Given the description of an element on the screen output the (x, y) to click on. 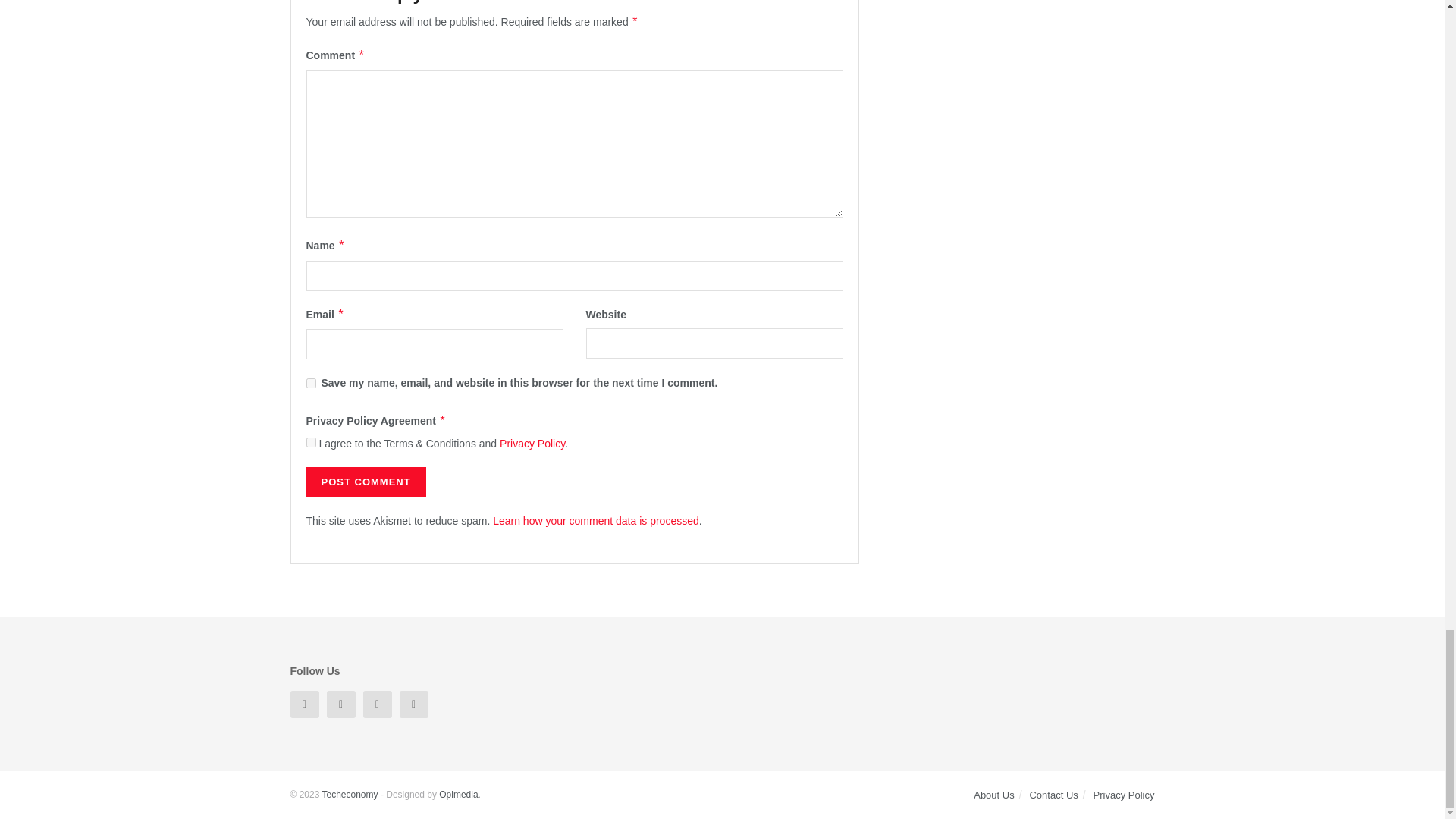
Opmedia (458, 794)
Techeconomy (349, 794)
Post Comment (365, 481)
on (310, 442)
yes (310, 383)
